Given the description of an element on the screen output the (x, y) to click on. 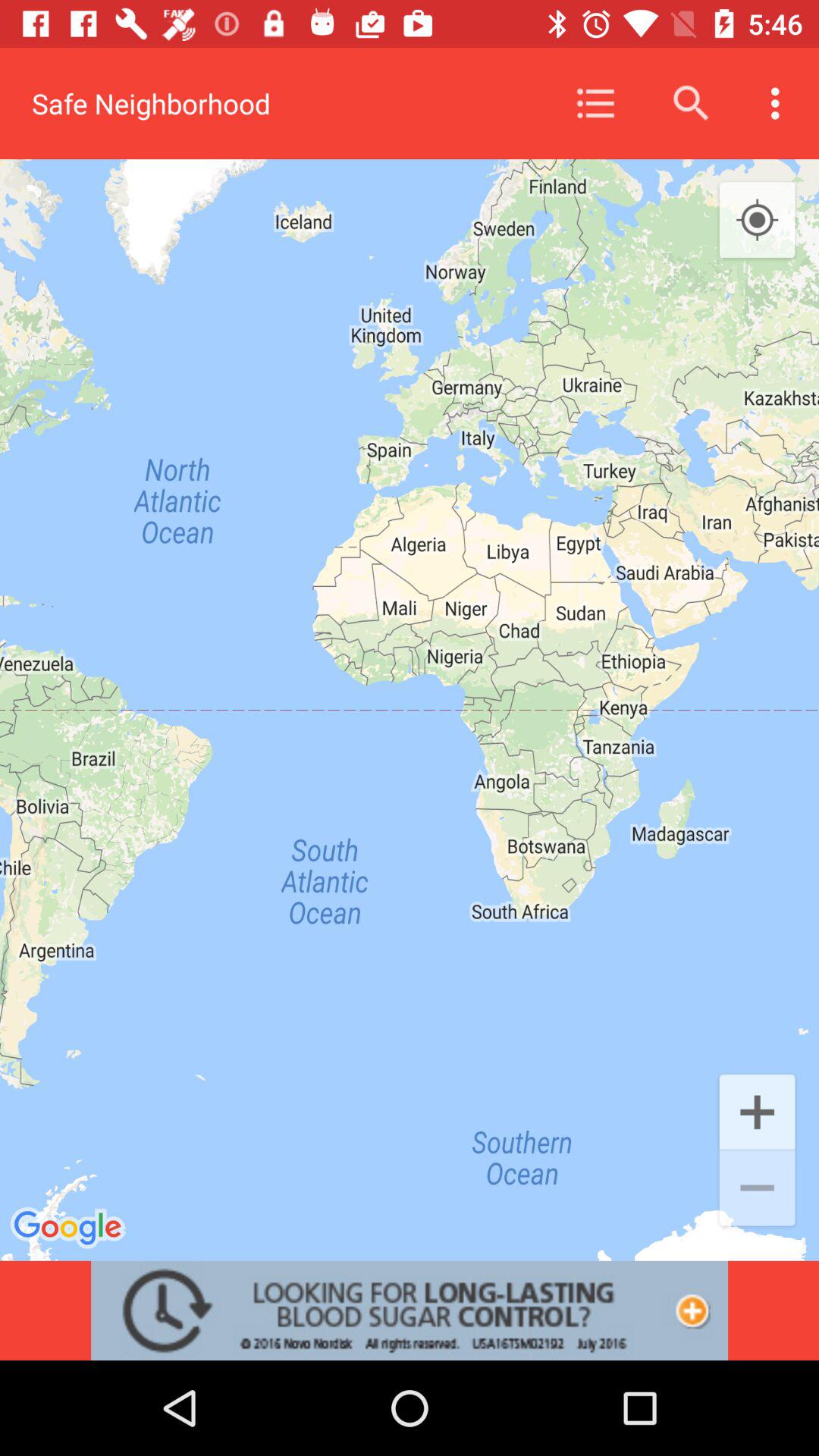
open advertisement (409, 1310)
